Given the description of an element on the screen output the (x, y) to click on. 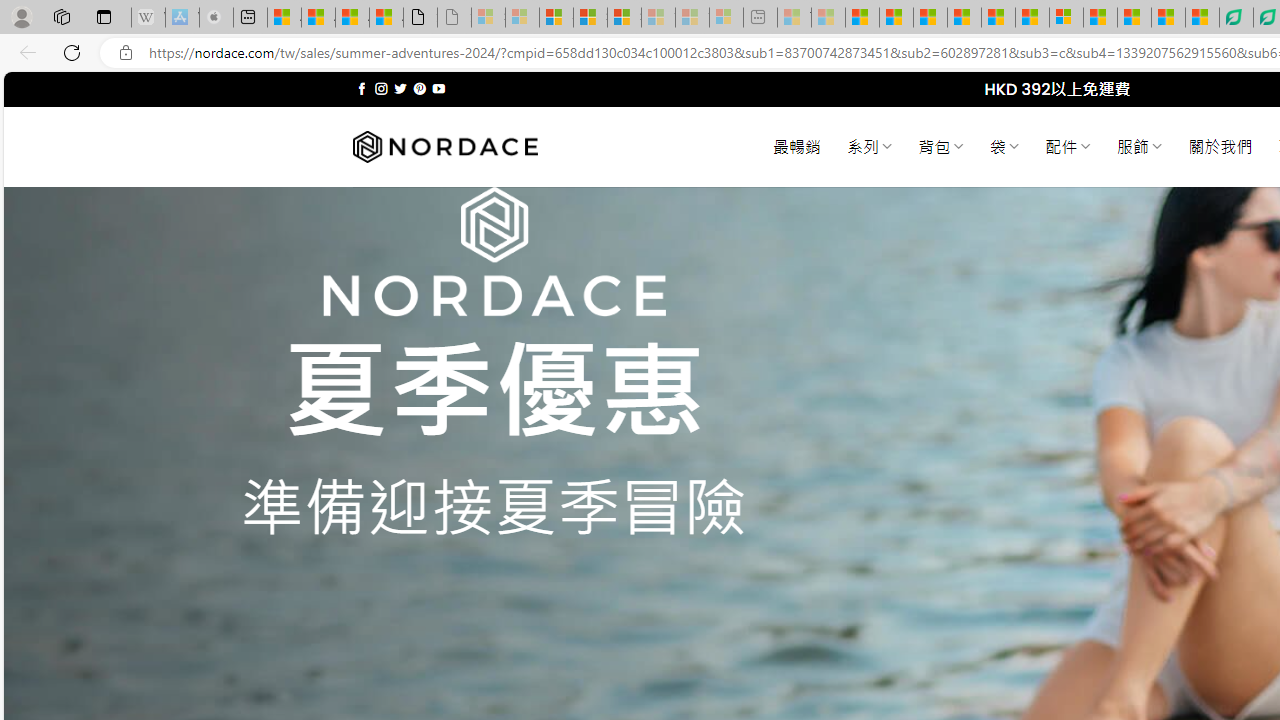
Follow on Pinterest (419, 88)
Aberdeen, Hong Kong SAR severe weather | Microsoft Weather (386, 17)
US Heat Deaths Soared To Record High Last Year (1100, 17)
Follow on Instagram (381, 88)
